Given the description of an element on the screen output the (x, y) to click on. 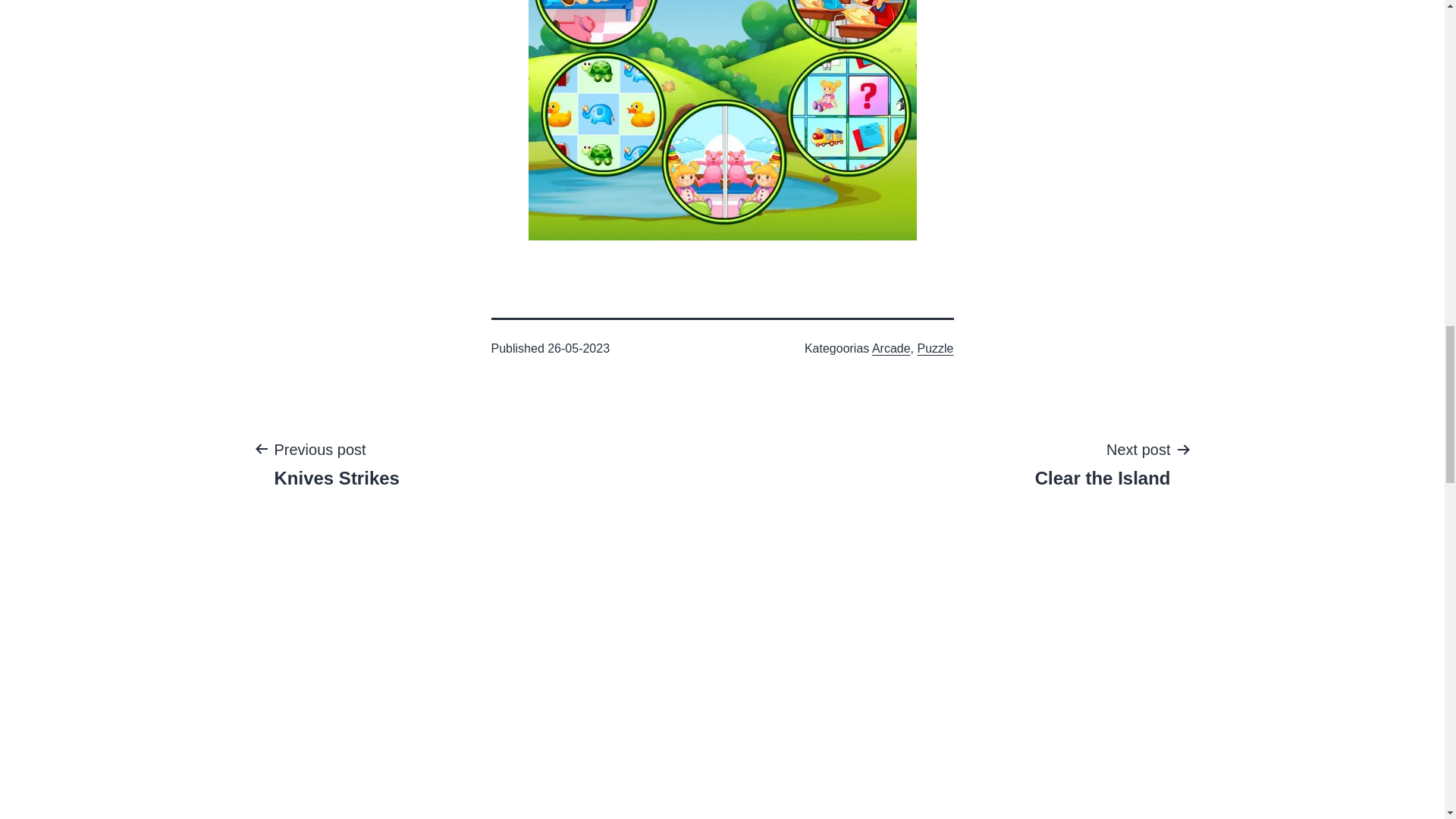
Arcade (335, 462)
Puzzle (1102, 462)
